Given the description of an element on the screen output the (x, y) to click on. 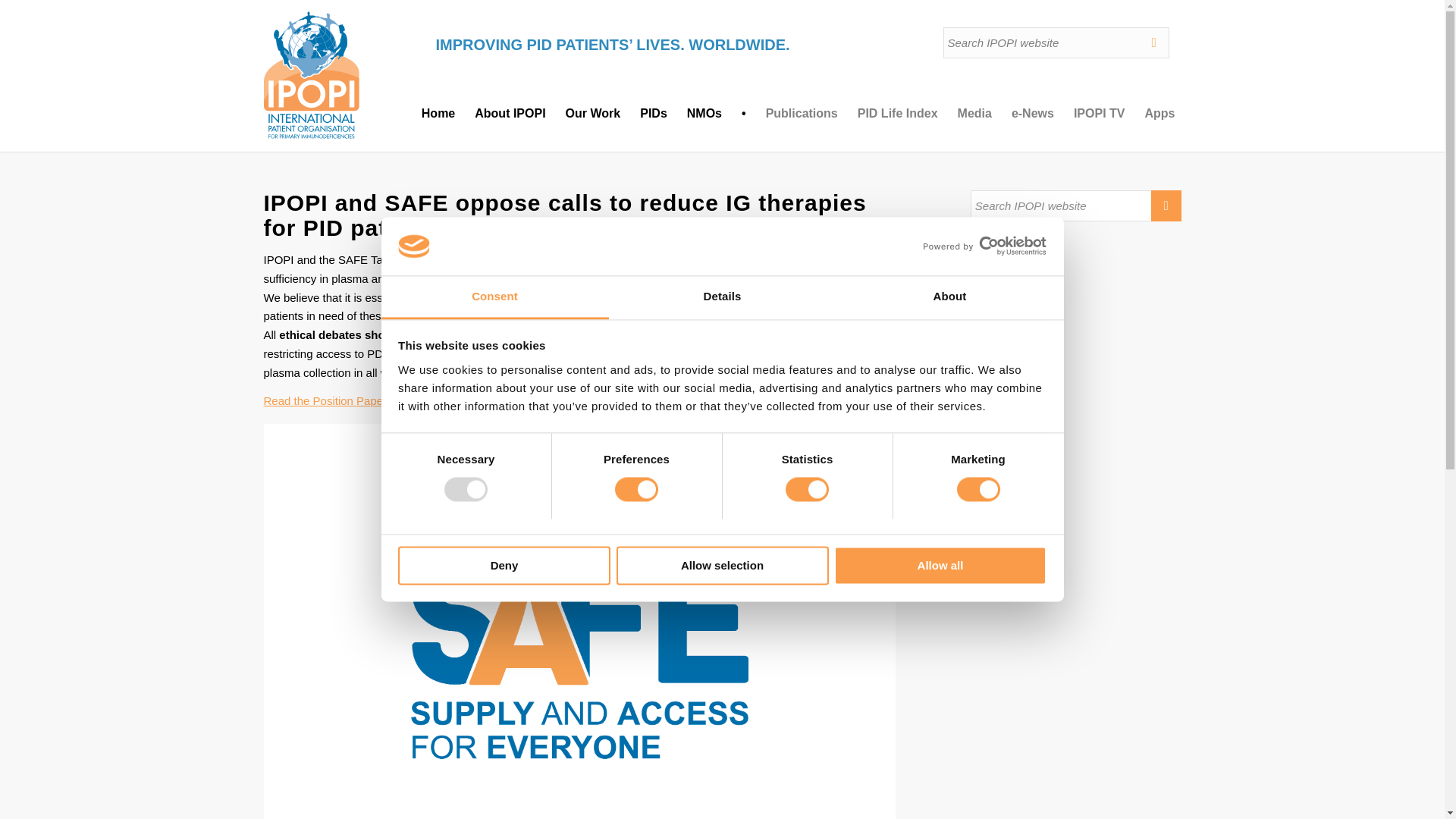
Consent (494, 297)
Details (721, 297)
About (948, 297)
